Given the description of an element on the screen output the (x, y) to click on. 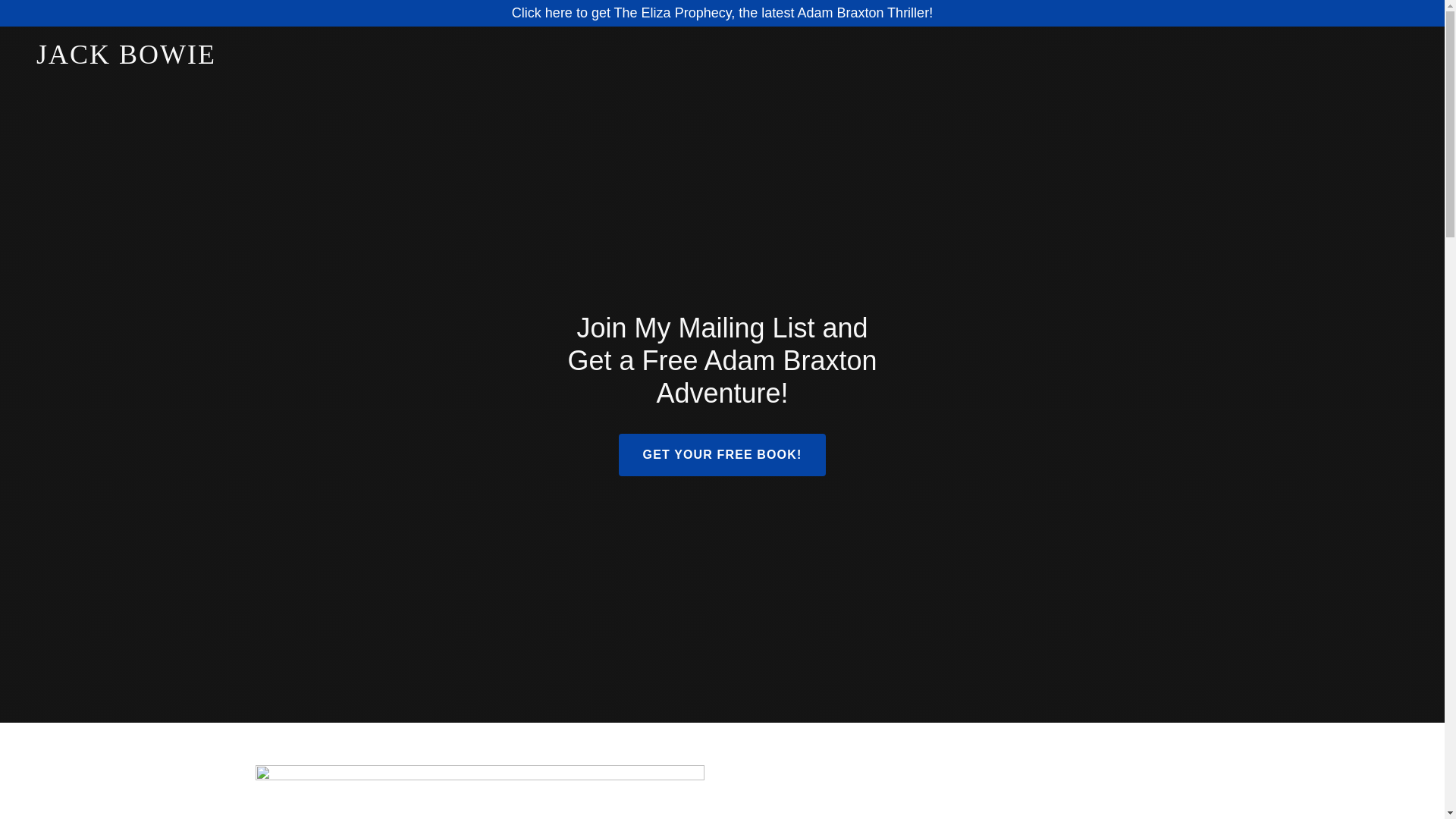
JACK BOWIE (276, 58)
Jack Bowie (276, 58)
